Given the description of an element on the screen output the (x, y) to click on. 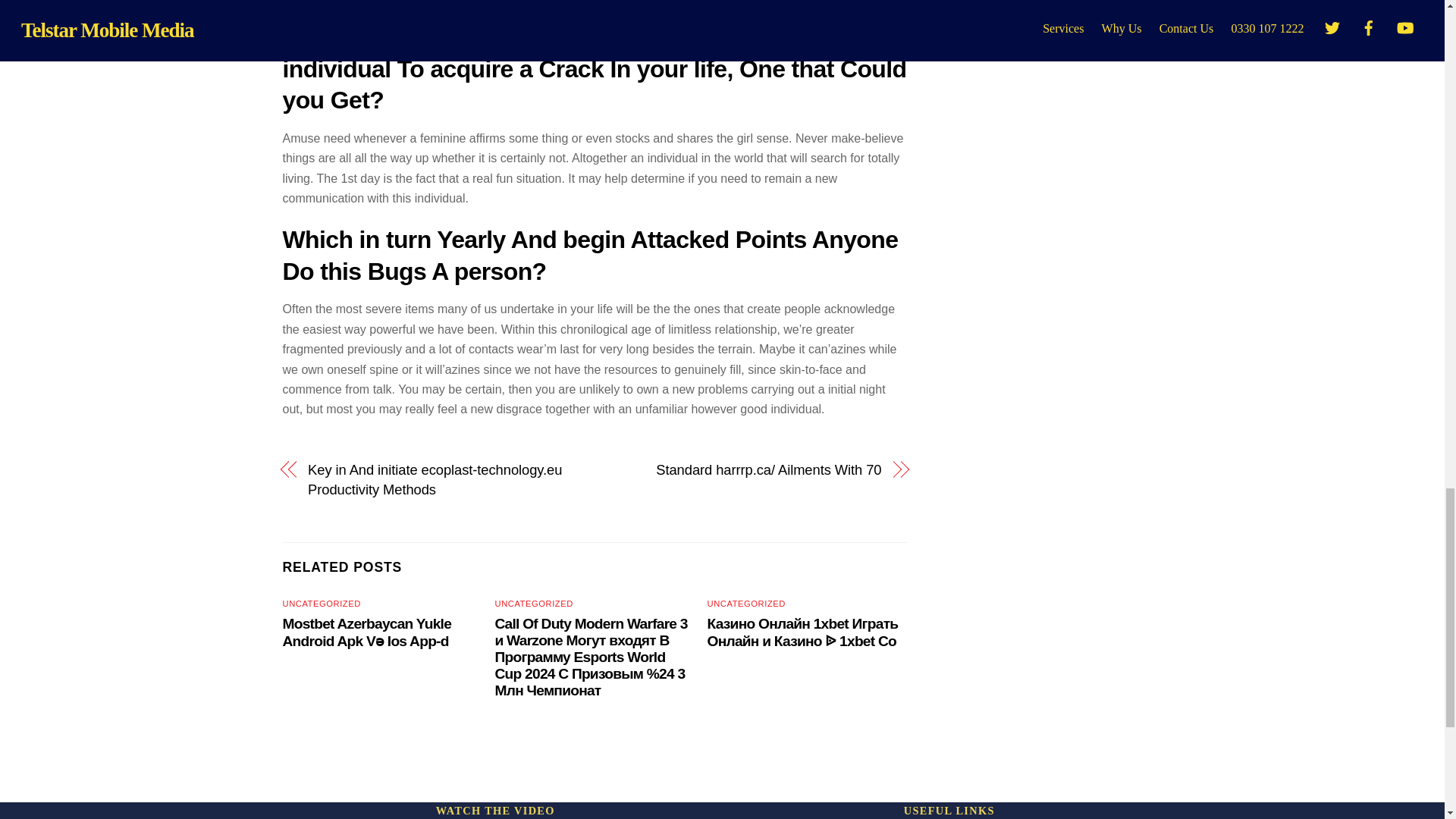
UNCATEGORIZED (746, 603)
UNCATEGORIZED (320, 603)
UNCATEGORIZED (534, 603)
